Given the description of an element on the screen output the (x, y) to click on. 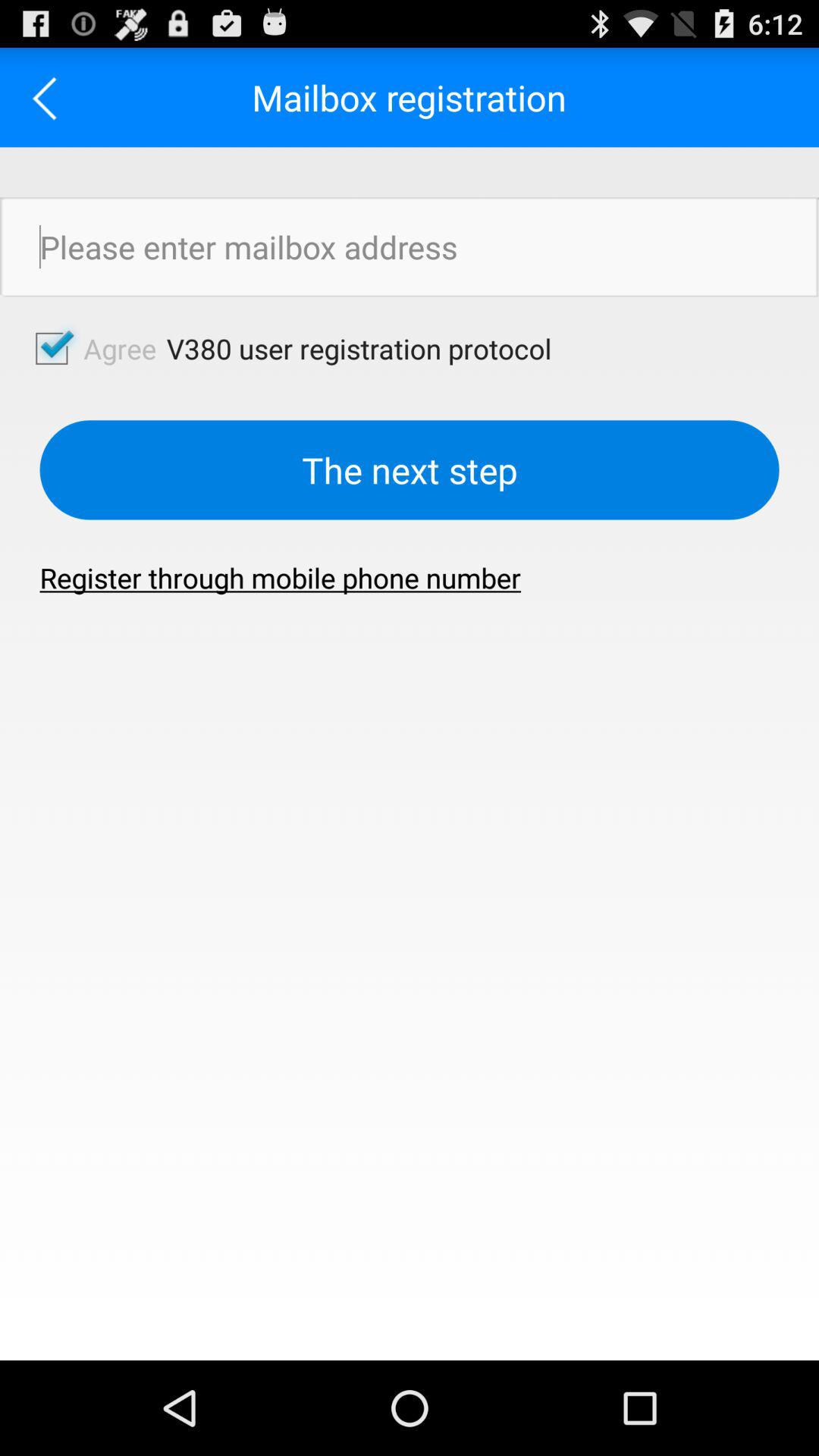
agree button (51, 348)
